Given the description of an element on the screen output the (x, y) to click on. 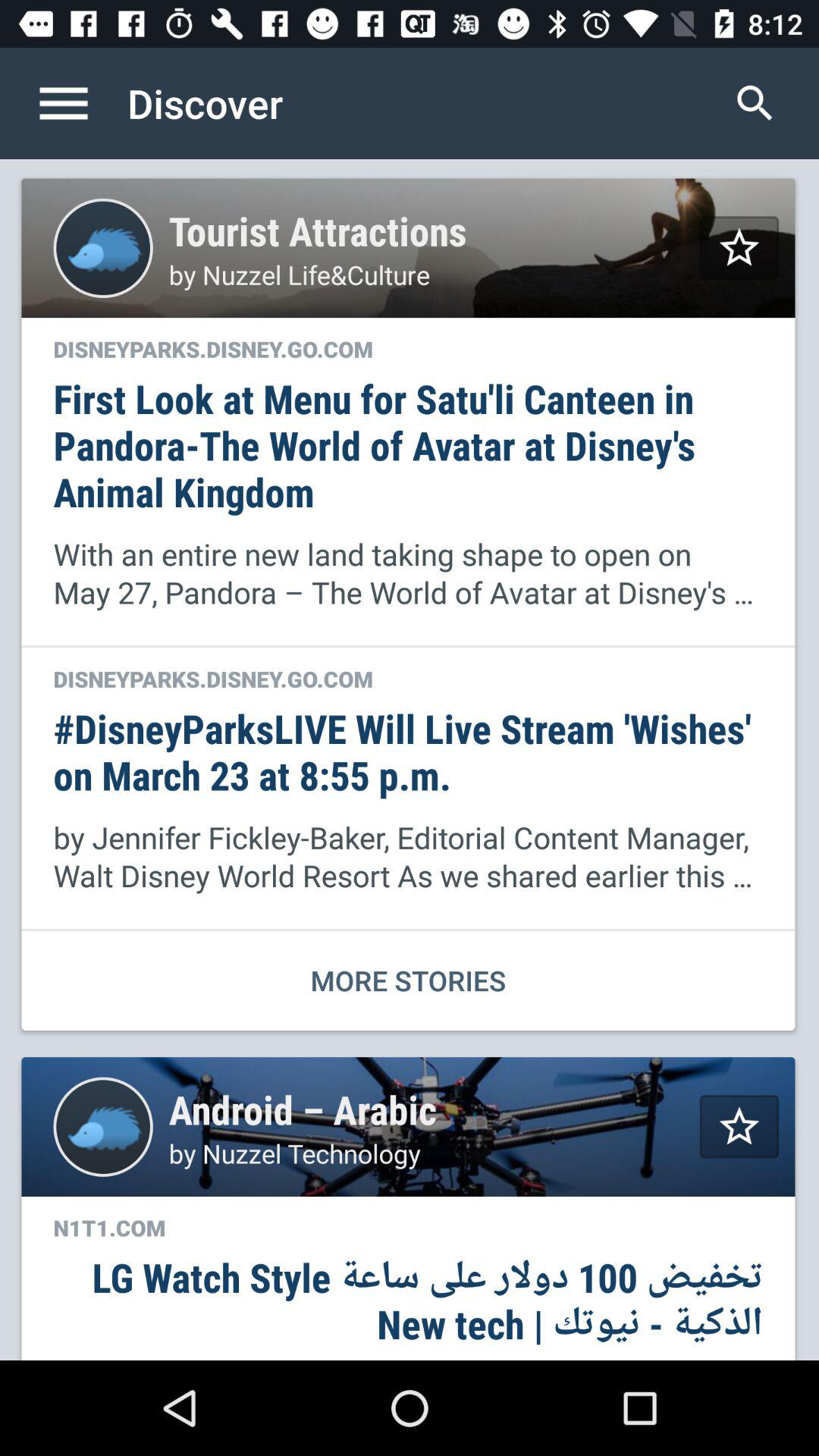
browse page (79, 103)
